Given the description of an element on the screen output the (x, y) to click on. 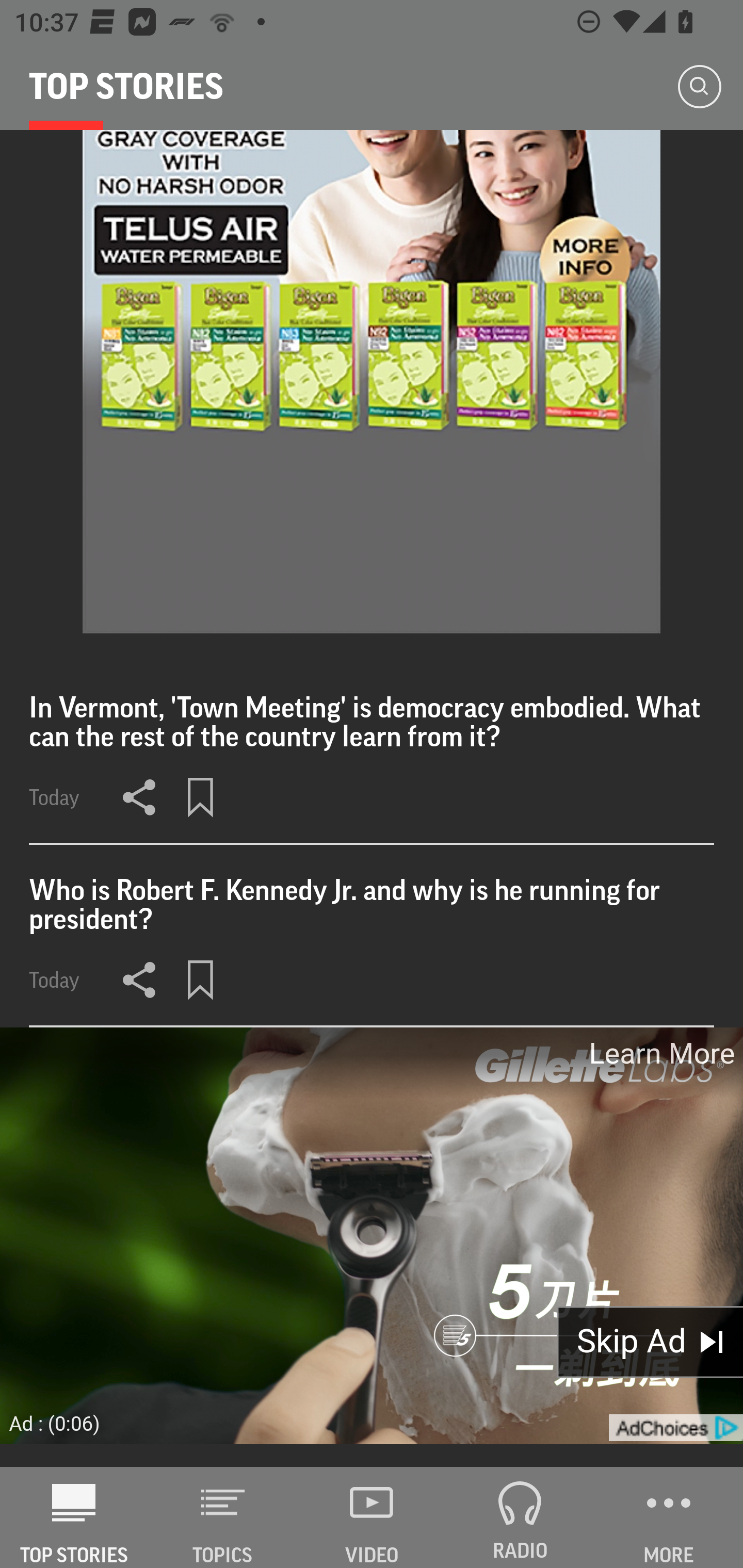
8 (371, 381)
Learn More (660, 1052)
Skip Ad (649, 1342)
Ad : (0:07) (54, 1422)
get?name=admarker-full-tl (675, 1428)
AP News TOP STORIES (74, 1517)
TOPICS (222, 1517)
VIDEO (371, 1517)
RADIO (519, 1517)
MORE (668, 1517)
